Given the description of an element on the screen output the (x, y) to click on. 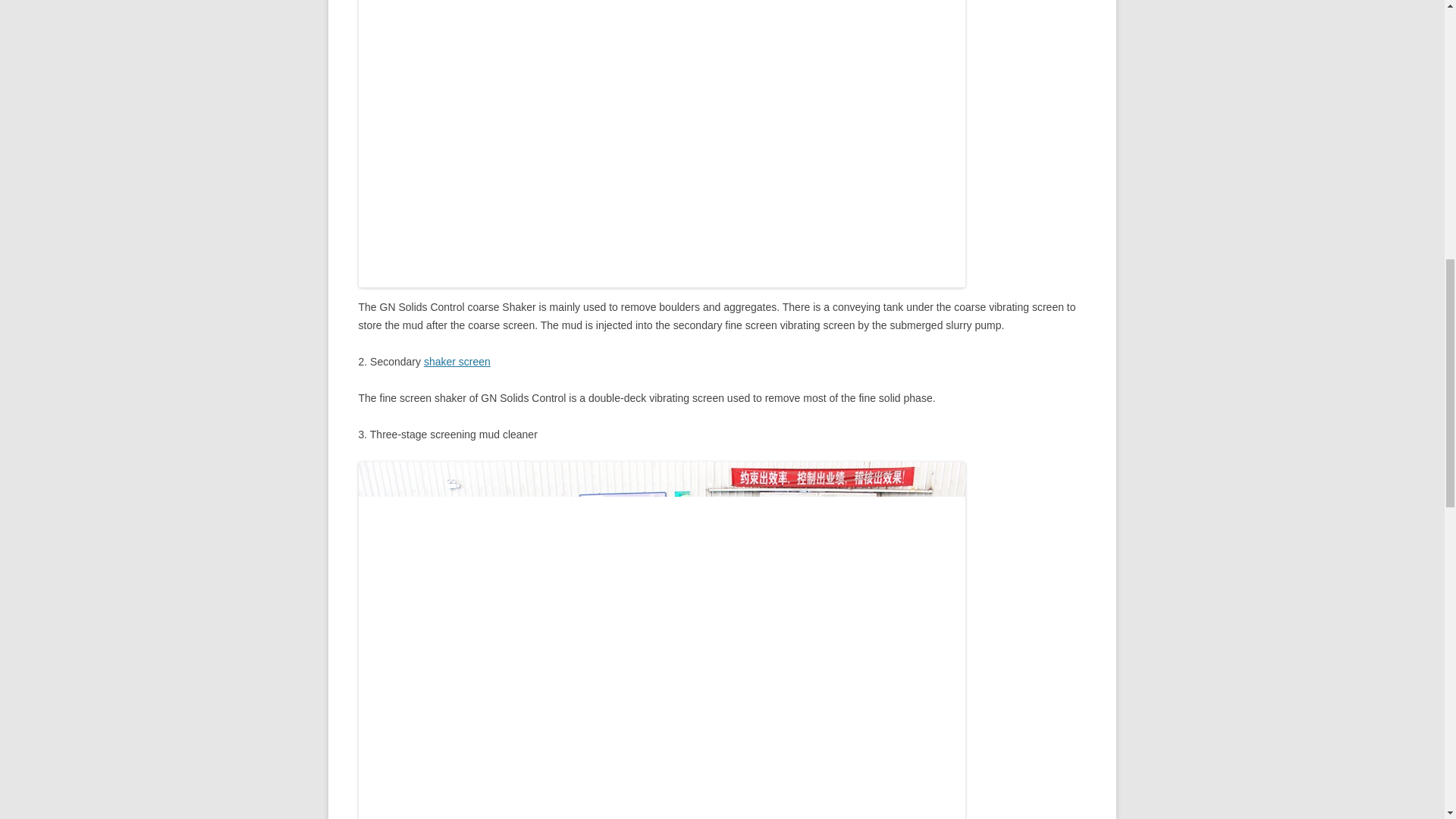
shaker screen (456, 361)
